Given the description of an element on the screen output the (x, y) to click on. 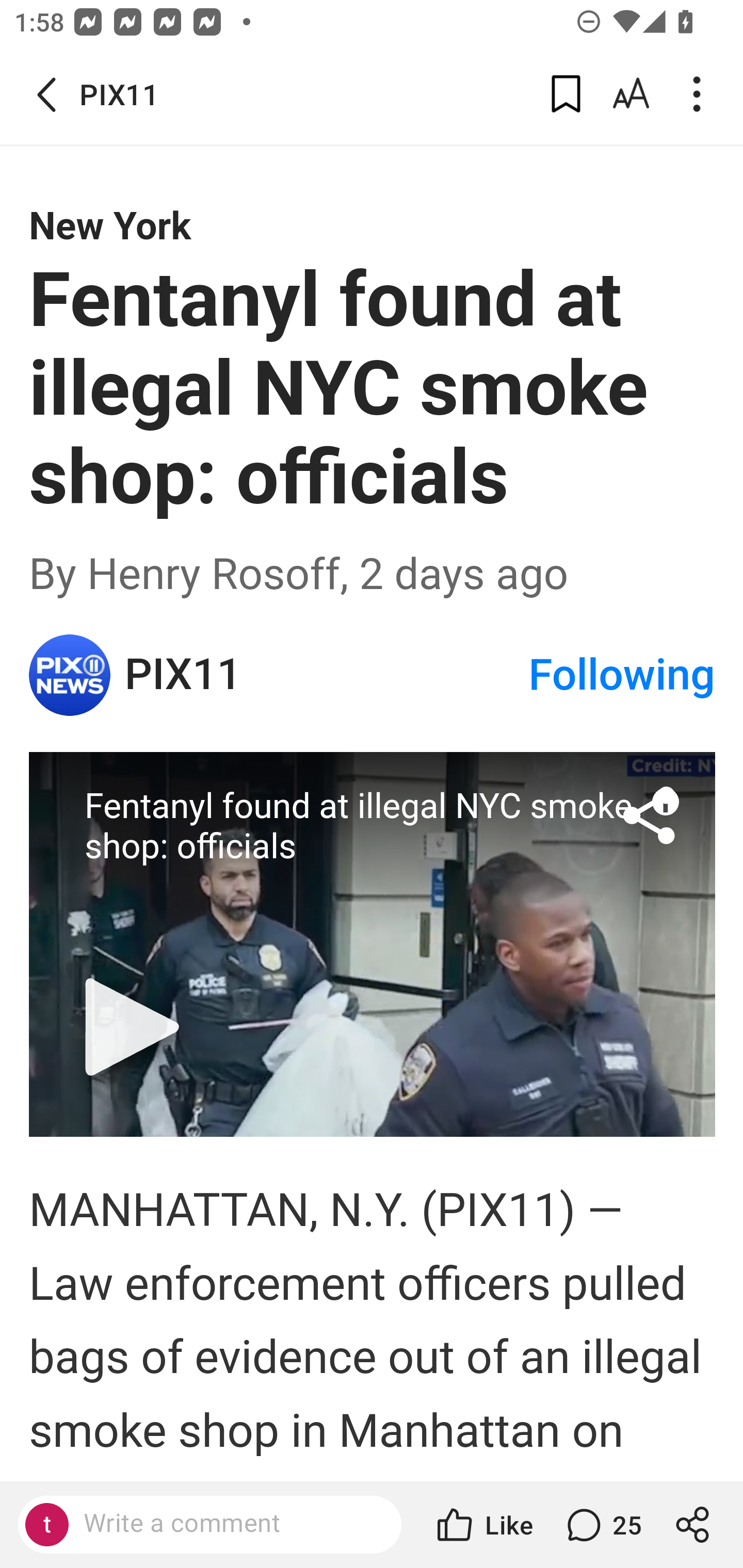
PIX11 (70, 674)
PIX11 (325, 674)
Following (621, 674)
Like (483, 1524)
25 (601, 1524)
Write a comment (209, 1524)
Write a comment (226, 1523)
